Given the description of an element on the screen output the (x, y) to click on. 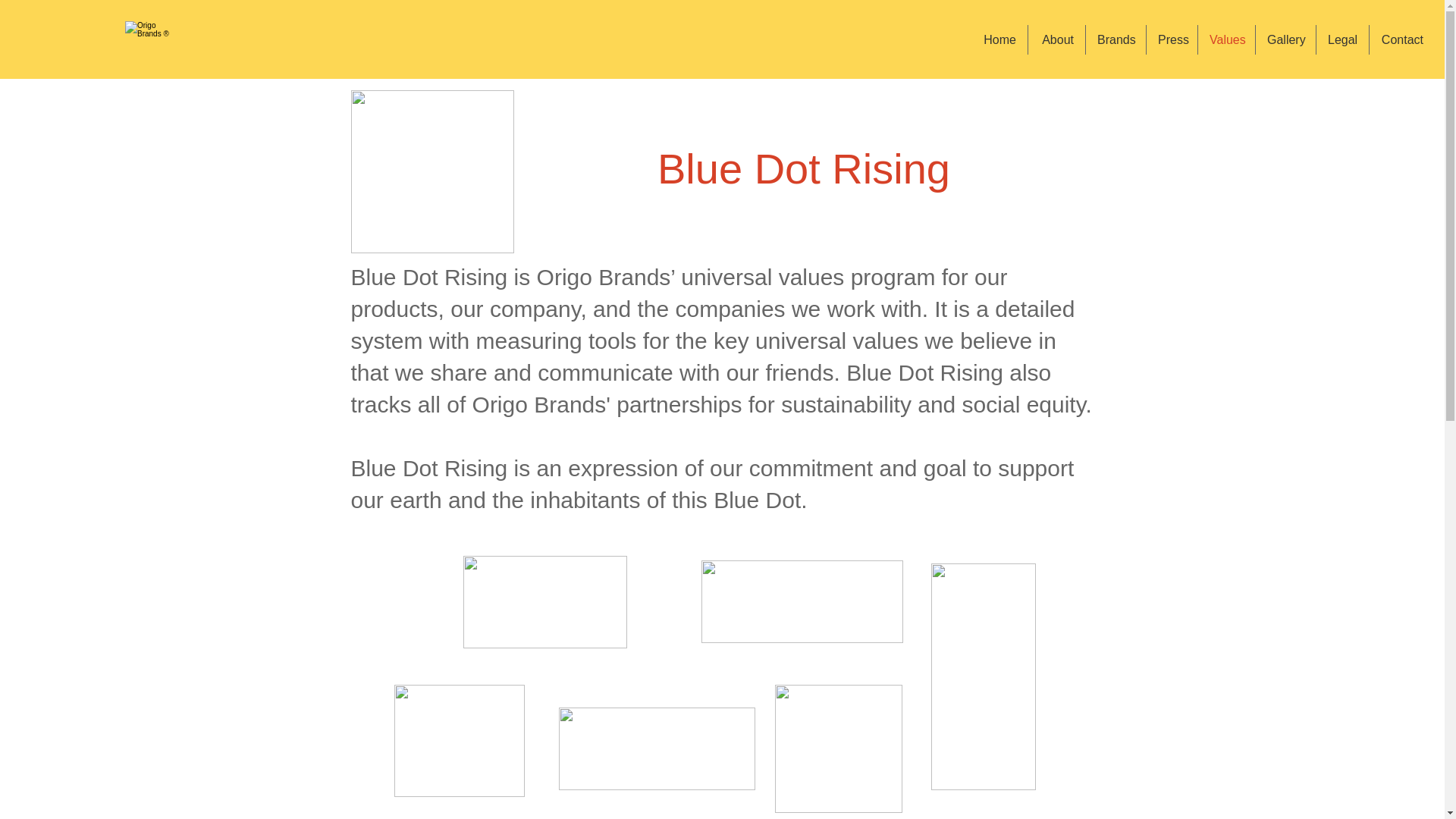
About (1055, 39)
Blue Dot Rising (804, 168)
Gallery (1285, 39)
Press (1171, 39)
Brands (1115, 39)
Home (999, 39)
Legal (1342, 39)
Blue Dot Rising.png (431, 171)
Trees for the Future.png (801, 601)
Values (1226, 39)
Contact (1402, 39)
